Given the description of an element on the screen output the (x, y) to click on. 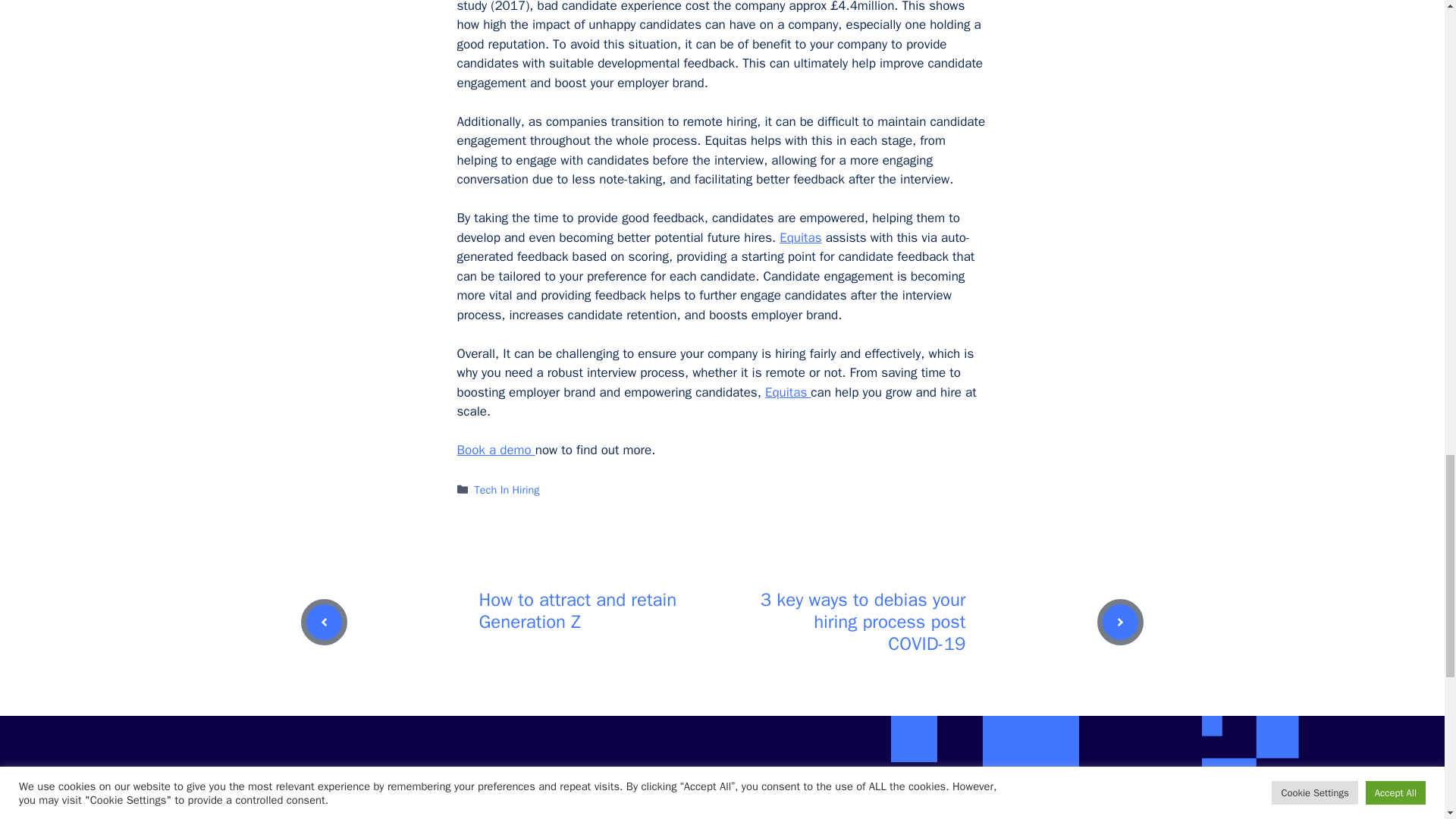
Tech In Hiring (507, 489)
Equitas (787, 392)
Equitas (799, 237)
How to attract and retain Generation Z (578, 610)
3 key ways to debias your hiring process post COVID-19 (863, 621)
Book a demo (495, 449)
